Given the description of an element on the screen output the (x, y) to click on. 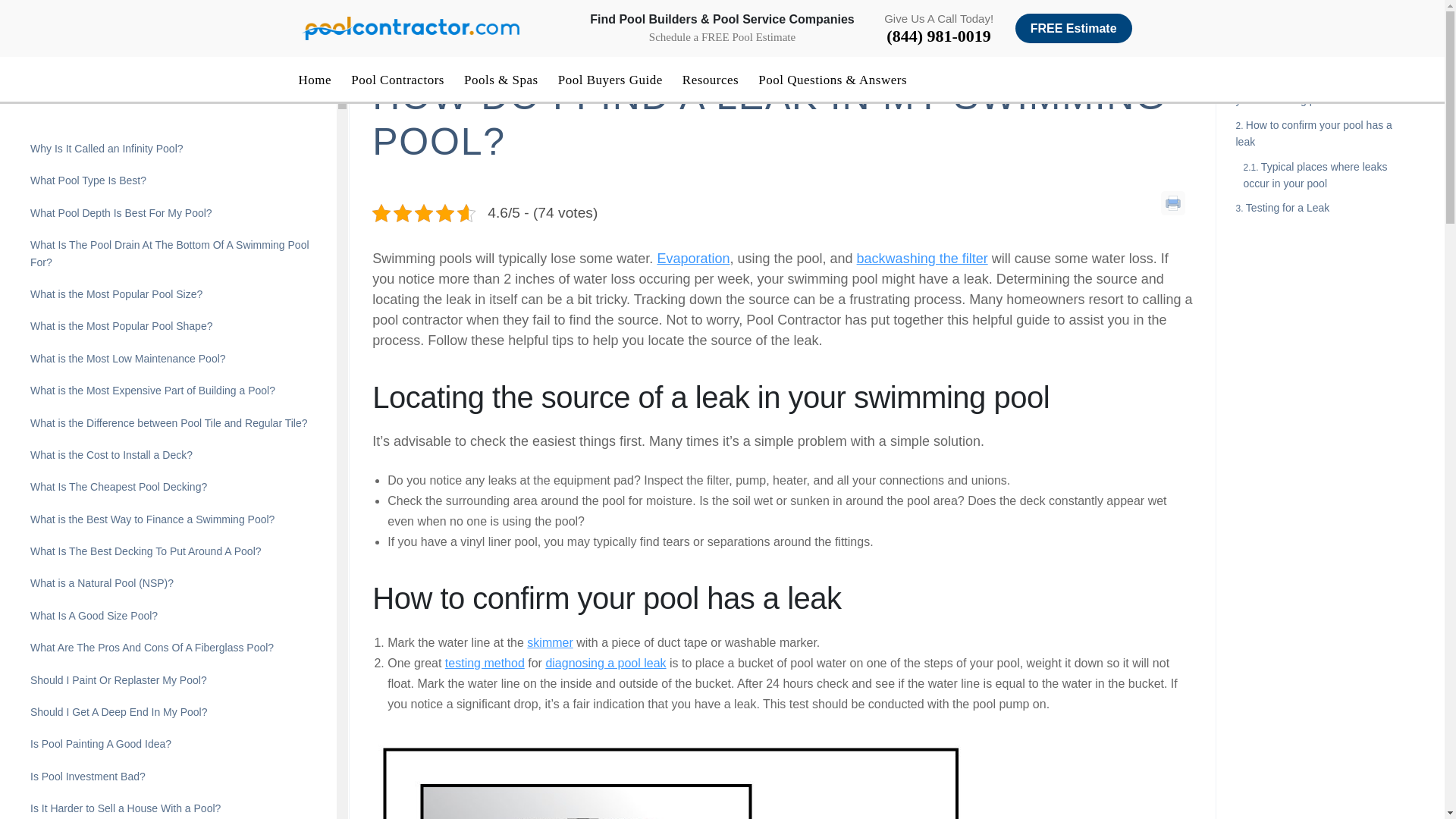
Home (384, 47)
Pool Contractors (397, 80)
Schedule a FREE Pool Estimate (721, 36)
Resources (710, 80)
Pool Buyers Guide (609, 80)
Home (314, 80)
FREE Estimate (1073, 28)
Ask a Pool Contractor (462, 47)
